Given the description of an element on the screen output the (x, y) to click on. 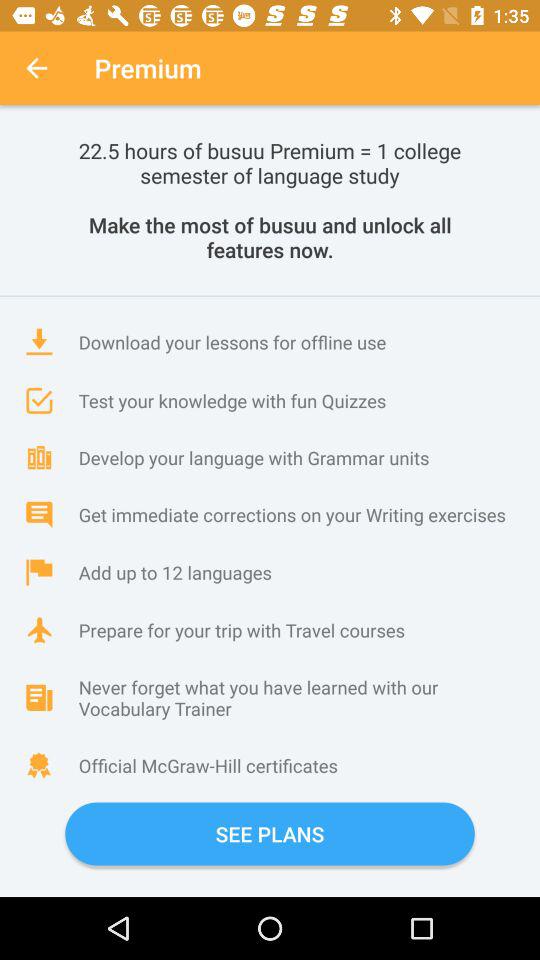
choose icon above 22 5 hours (36, 68)
